Given the description of an element on the screen output the (x, y) to click on. 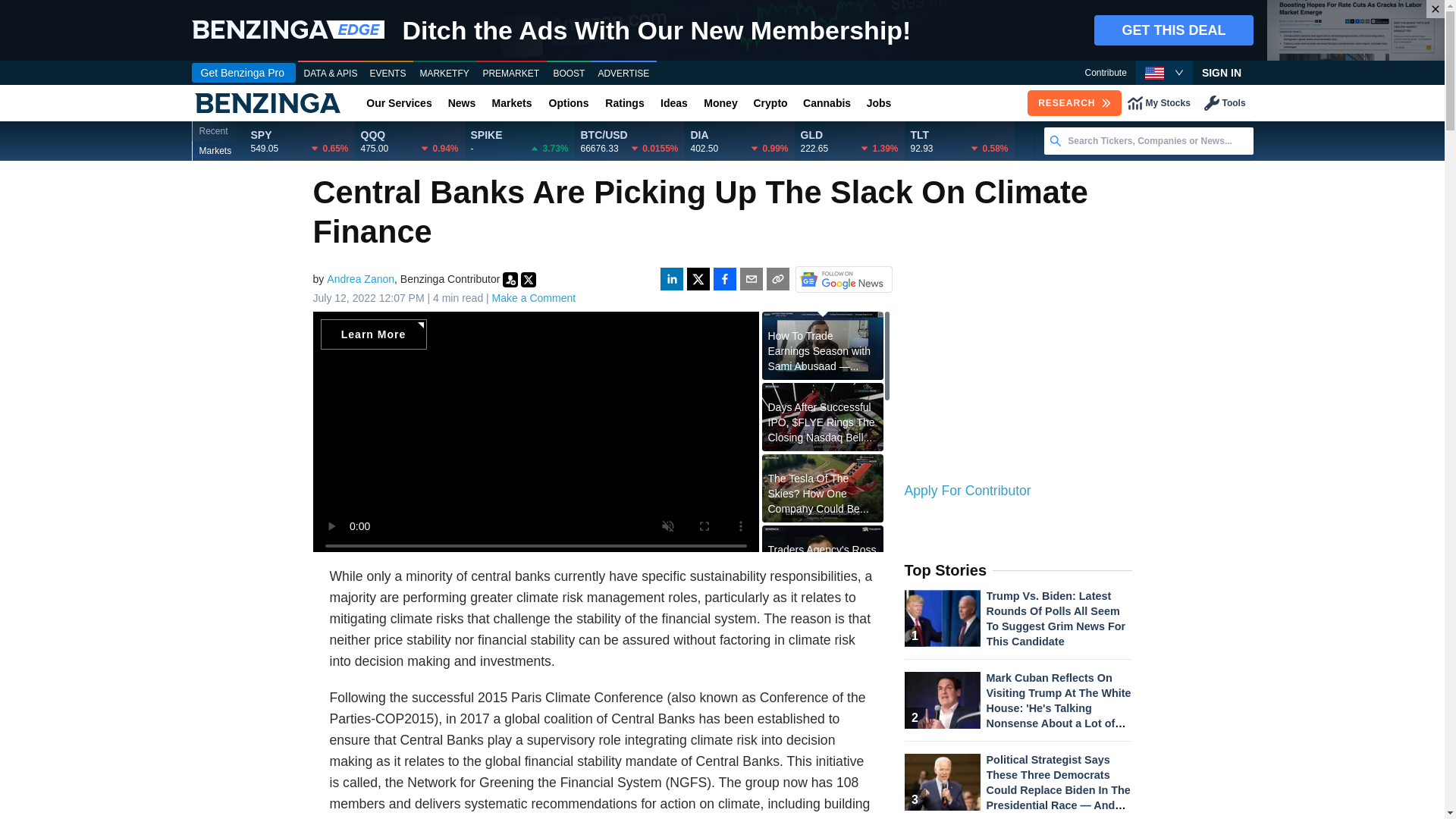
MARKETFY (444, 73)
Our Services (398, 103)
SIGN IN (1221, 72)
News (461, 103)
ADVERTISE (623, 73)
Markets (511, 103)
GET THIS DEAL (1173, 30)
USA (1153, 72)
Contribute (1104, 72)
Get Benzinga Pro (242, 72)
BOOST (569, 73)
News (461, 103)
PREMARKET (511, 73)
EVENTS (387, 73)
Our Services (398, 103)
